Given the description of an element on the screen output the (x, y) to click on. 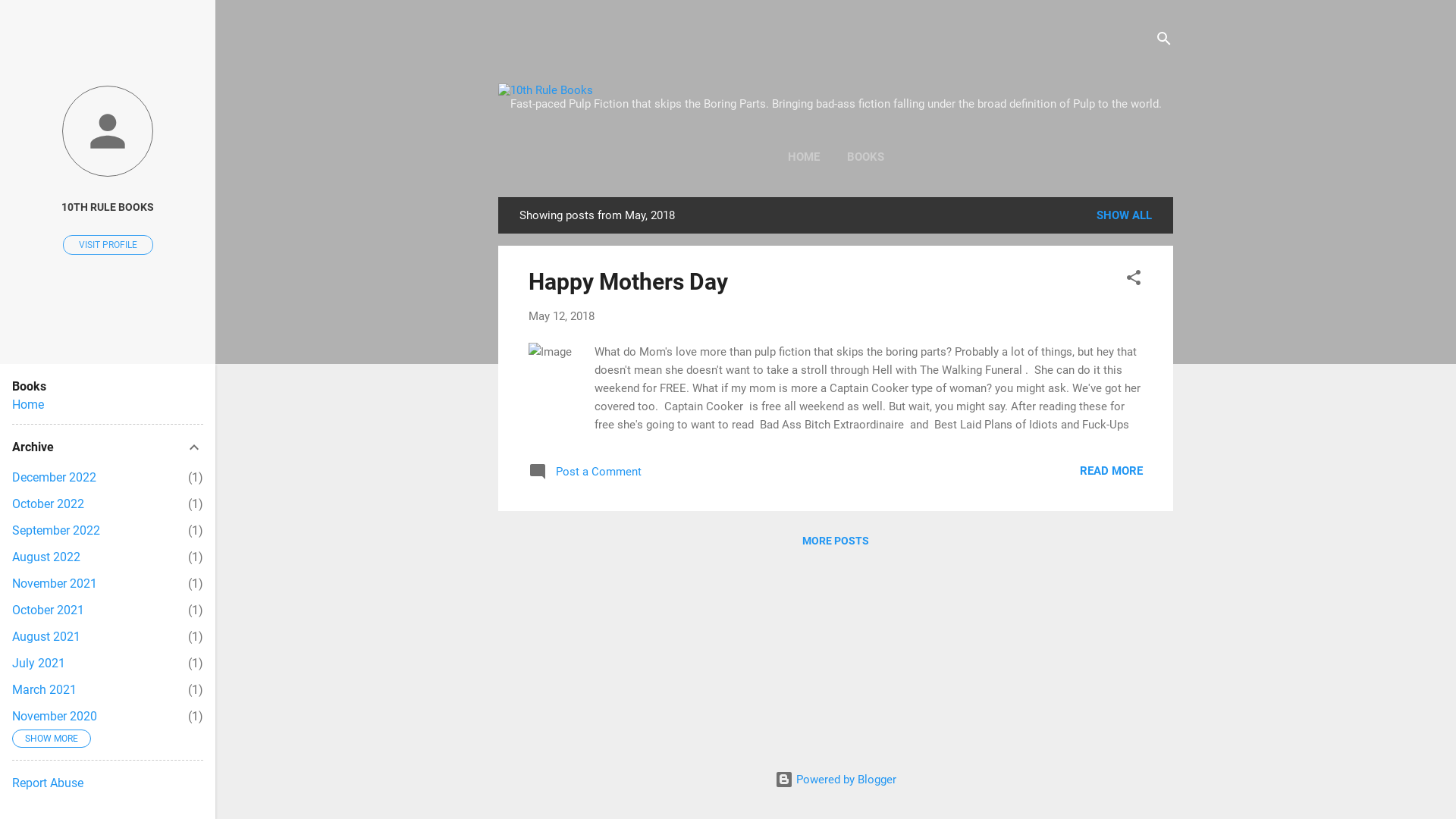
Home Element type: text (27, 404)
August 2022
1 Element type: text (46, 556)
May 12, 2018 Element type: text (561, 316)
BOOKS Element type: text (864, 156)
October 2022
1 Element type: text (48, 503)
August 2021
1 Element type: text (46, 636)
November 2021
1 Element type: text (54, 583)
October 2021
1 Element type: text (48, 609)
10TH RULE BOOKS Element type: text (107, 207)
Report Abuse Element type: text (47, 782)
July 2021
1 Element type: text (38, 662)
SHOW ALL Element type: text (1123, 215)
December 2022
1 Element type: text (54, 477)
November 2020
1 Element type: text (54, 716)
MORE POSTS Element type: text (835, 540)
Post a Comment Element type: text (584, 476)
Powered by Blogger Element type: text (835, 779)
Happy Mothers Day Element type: text (628, 281)
VISIT PROFILE Element type: text (107, 244)
Search Element type: text (28, 18)
September 2022
1 Element type: text (56, 530)
HOME Element type: text (803, 156)
READ MORE Element type: text (1110, 470)
March 2021
1 Element type: text (44, 689)
